Given the description of an element on the screen output the (x, y) to click on. 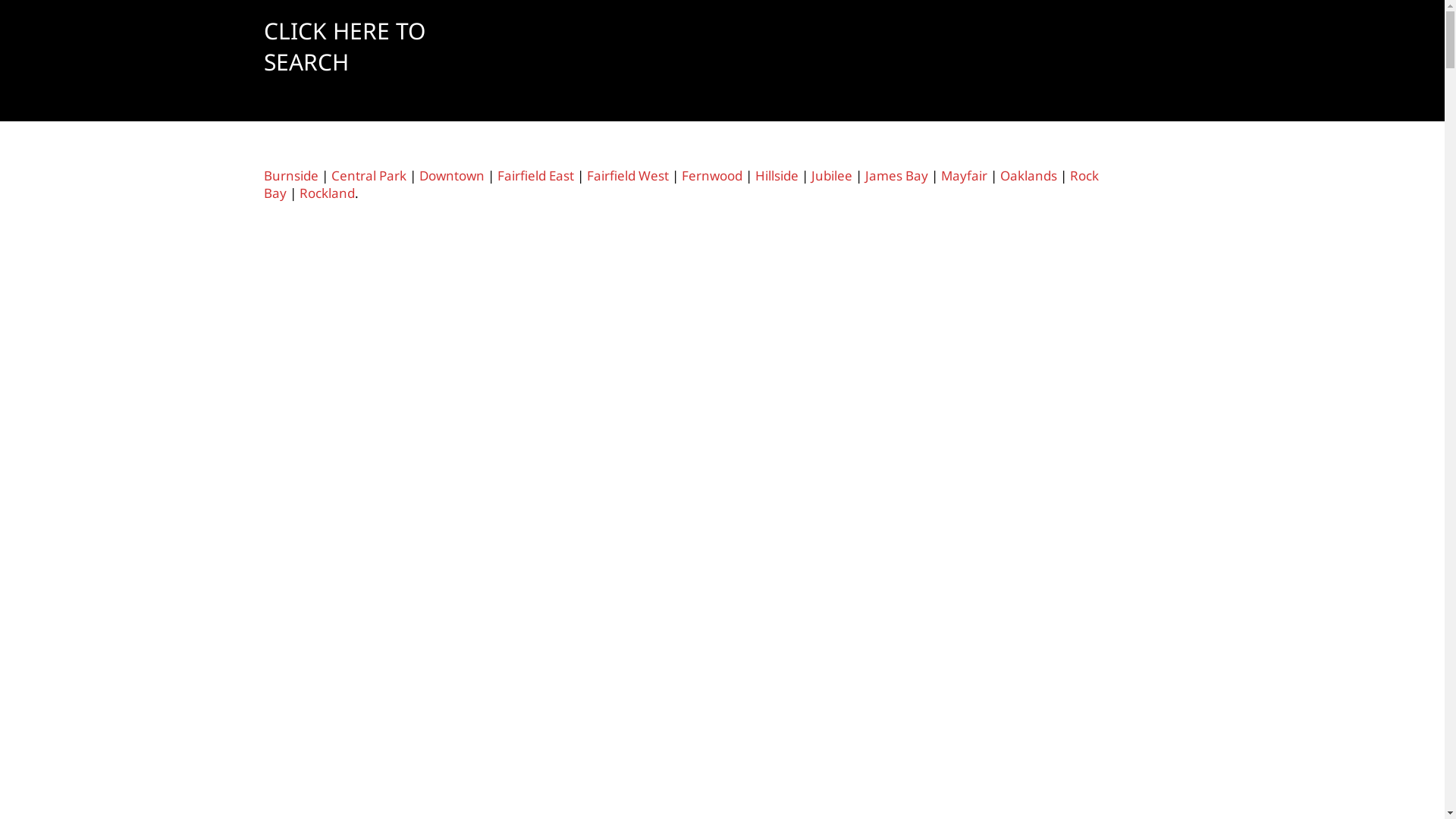
BUYING Element type: text (763, 48)
RESOURCES Element type: text (1043, 48)
Burnside Element type: text (290, 175)
Jubilee Element type: text (831, 175)
CONTACT Element type: text (1148, 48)
SELLING Element type: text (849, 48)
HOME Element type: text (566, 48)
Rock Bay Element type: text (680, 183)
Fairfield West Element type: text (627, 175)
CLICK HERE TO SEARCH Element type: text (377, 46)
CAREERS Element type: text (940, 48)
Downtown Element type: text (450, 175)
Fairfield East Element type: text (535, 175)
James Bay Element type: text (895, 175)
Hillside Element type: text (776, 175)
Mayfair Element type: text (963, 175)
Fernwood Element type: text (710, 175)
Rockland Element type: text (326, 192)
PROPERTIES Element type: text (661, 48)
Oaklands Element type: text (1027, 175)
Central Park Element type: text (367, 175)
